Given the description of an element on the screen output the (x, y) to click on. 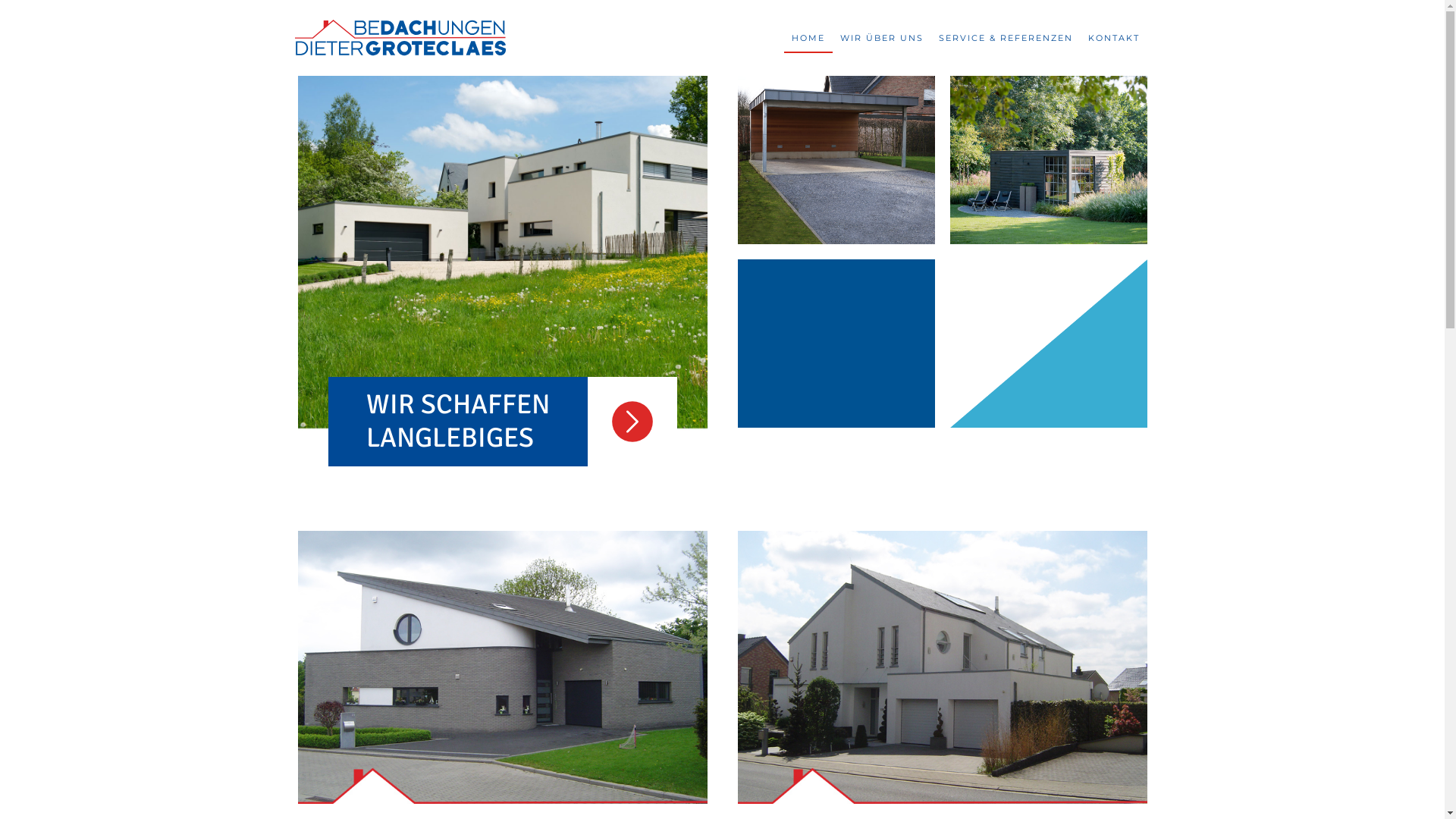
KONTAKT Element type: text (1112, 26)
HOME Element type: text (808, 26)
SERVICE & REFERENZEN Element type: text (1005, 26)
